Given the description of an element on the screen output the (x, y) to click on. 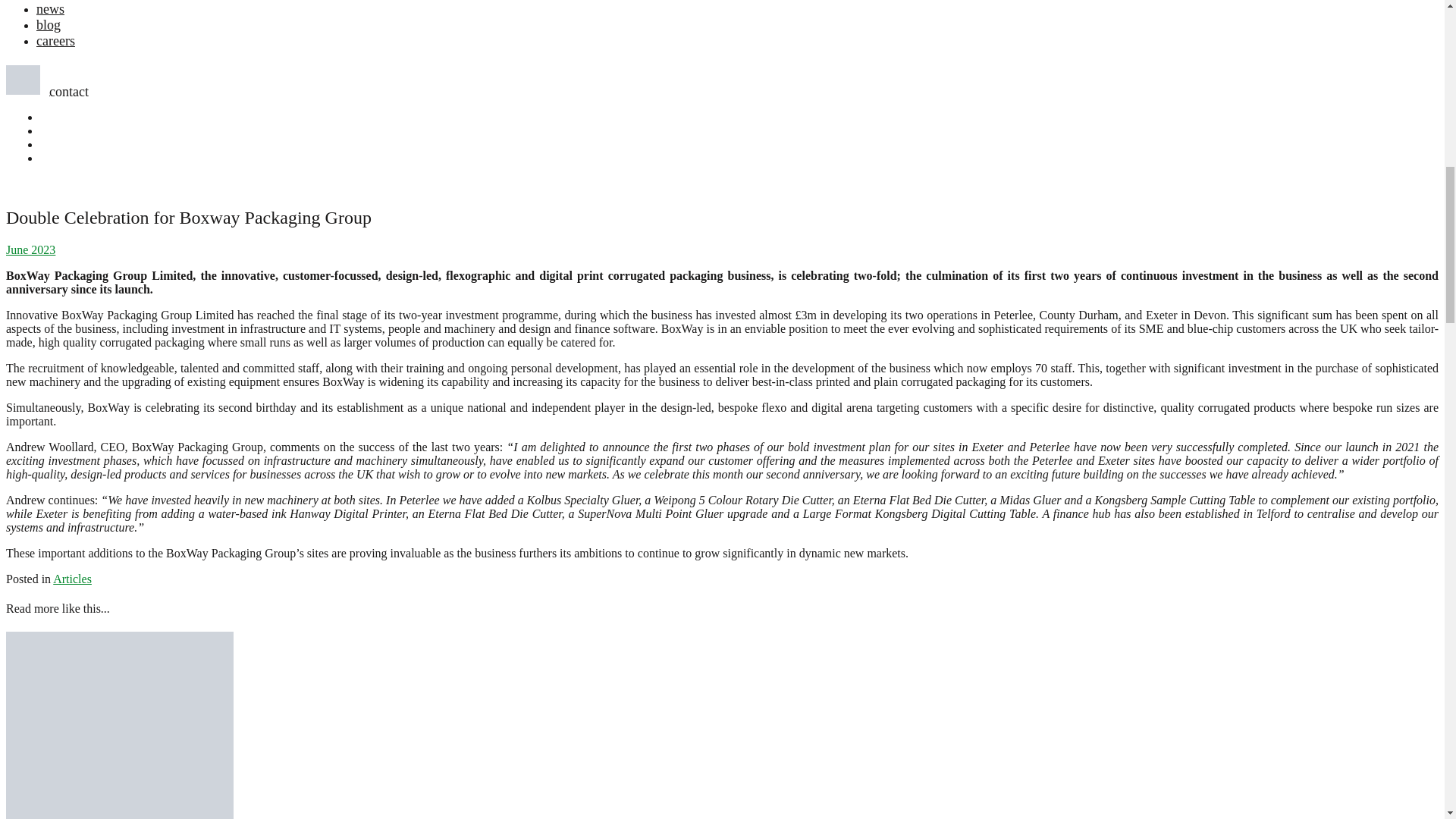
contact (46, 90)
Articles (71, 578)
blog (48, 24)
careers (55, 40)
June 2023 (30, 249)
news (50, 8)
